Given the description of an element on the screen output the (x, y) to click on. 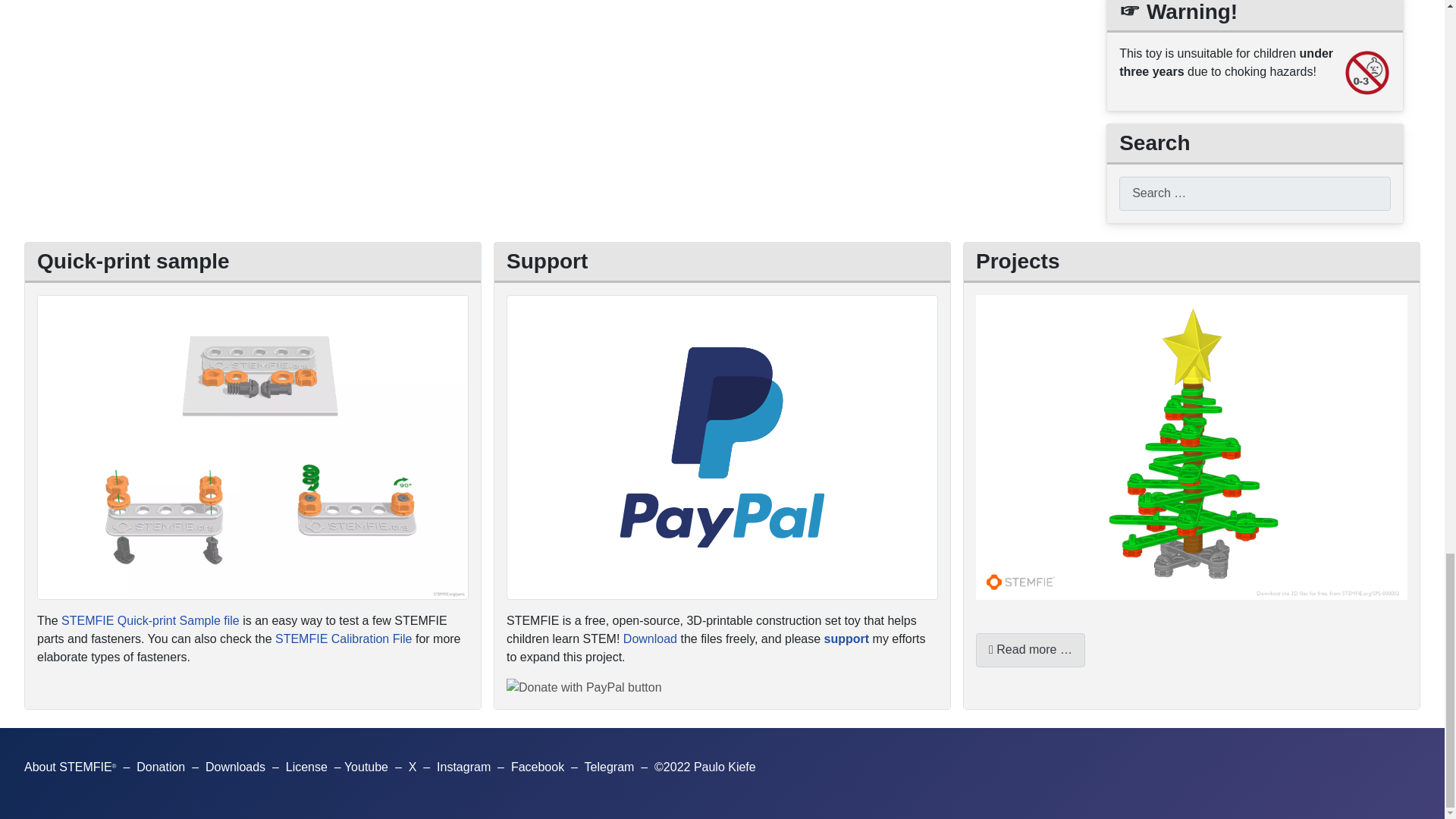
STEMFIE Calibration File (343, 638)
Download (650, 638)
STEMFIE Quick-print Sample file (150, 620)
PayPal - The safer, easier way to pay online! (584, 687)
support (846, 638)
